Given the description of an element on the screen output the (x, y) to click on. 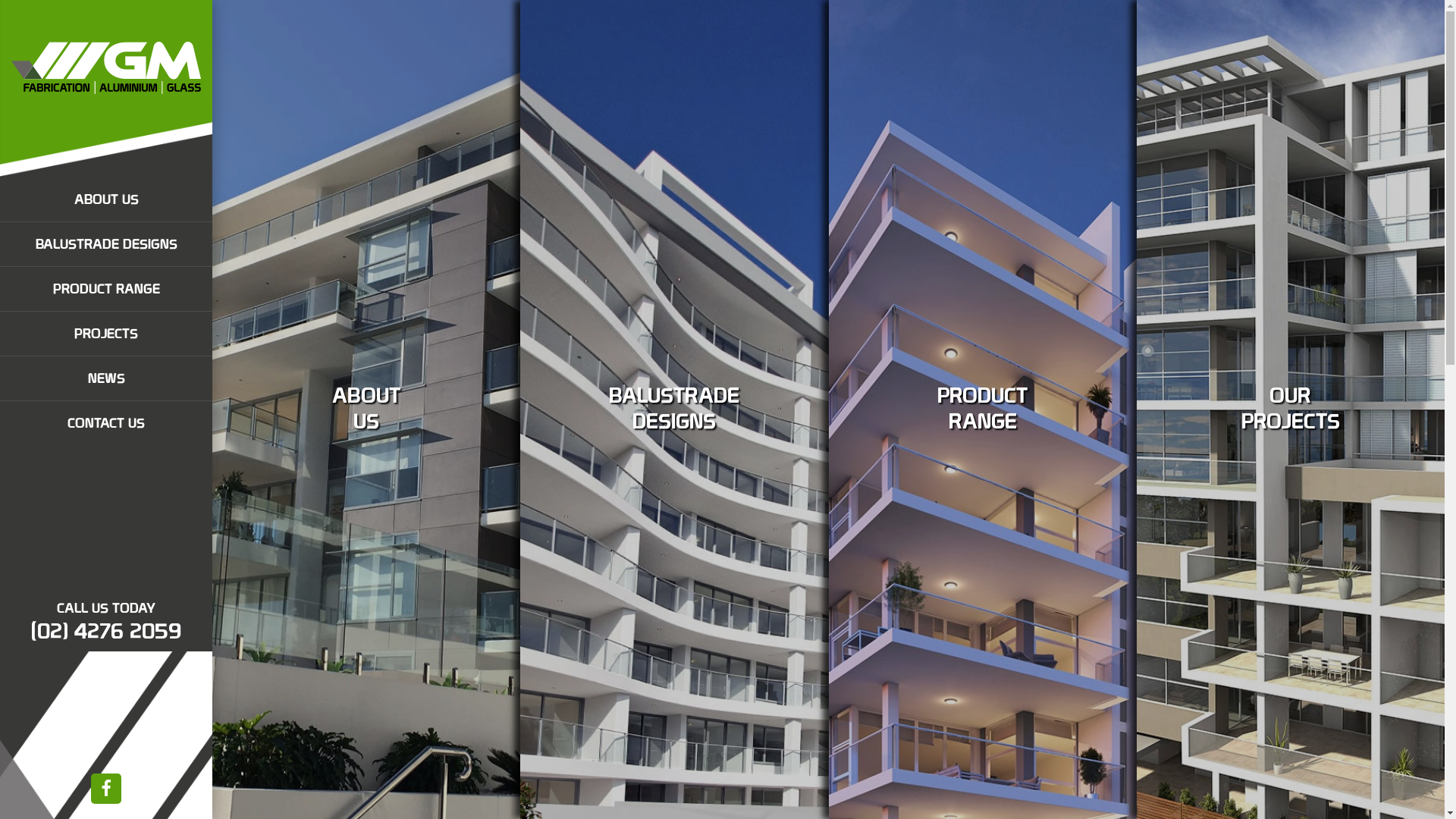
PROJECTS Element type: text (106, 333)
CALL US TODAY
(02) 4276 2059 Element type: text (106, 621)
NEWS Element type: text (106, 378)
PRODUCT RANGE Element type: text (106, 288)
ABOUT
US Element type: text (365, 407)
BALUSTRADE
DESIGNS Element type: text (673, 407)
ABOUT US Element type: text (106, 199)
OUR
PROJECTS Element type: text (1290, 407)
BALUSTRADE DESIGNS Element type: text (106, 244)
CONTACT US Element type: text (106, 423)
PRODUCT
RANGE Element type: text (982, 407)
